Given the description of an element on the screen output the (x, y) to click on. 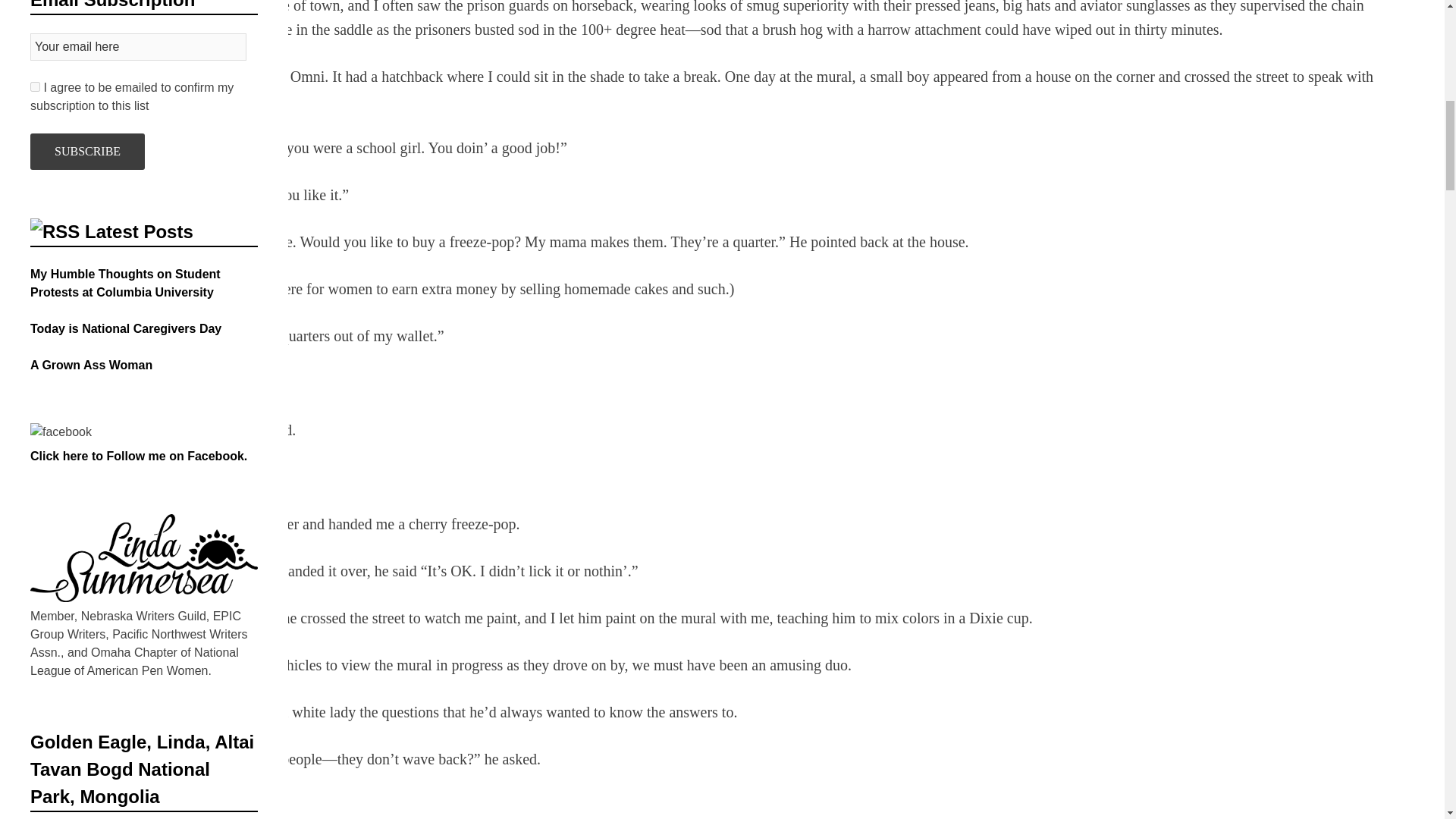
Subscribe (87, 151)
on (35, 86)
A Grown Ass Woman (91, 364)
Your email here (138, 46)
Click here to Follow me on Facebook. (138, 455)
Today is National Caregivers Day (125, 328)
Latest Posts (138, 231)
Subscribe (87, 151)
